Given the description of an element on the screen output the (x, y) to click on. 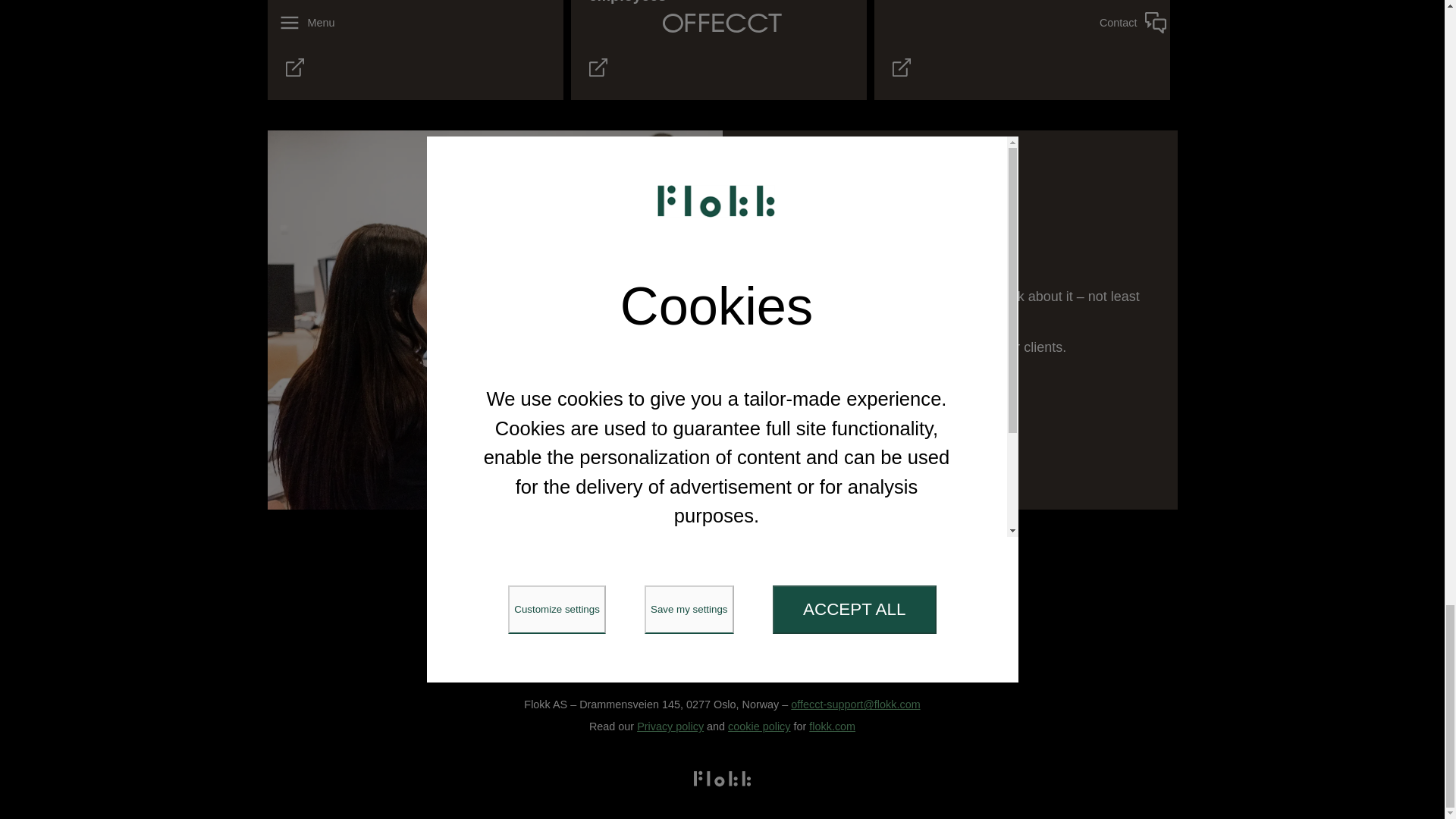
flokk.com (832, 726)
Designers (736, 576)
Home (505, 576)
Acoustics (653, 576)
Books (809, 576)
Get in touch with us (768, 388)
Privacy policy (670, 726)
About (868, 576)
Offecct (721, 528)
Contact (932, 576)
